Given the description of an element on the screen output the (x, y) to click on. 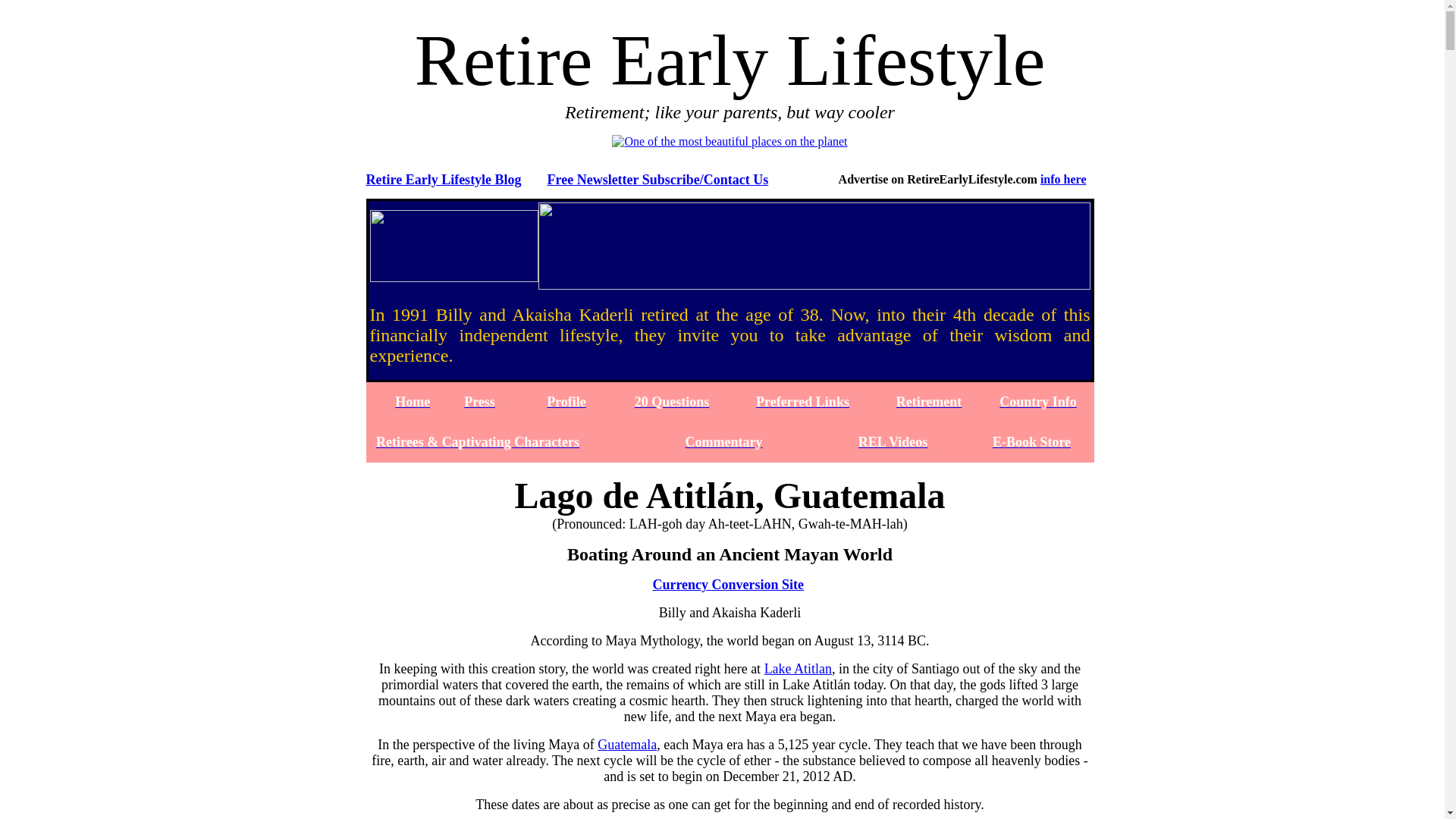
Profile (566, 401)
Commentary (723, 441)
Retirement (929, 401)
info here (1063, 178)
E-Book Store (1031, 441)
Lake Atitlan (797, 668)
Country Info (1037, 401)
Home (411, 401)
Preferred Links (801, 401)
20 Questions (672, 401)
Guatemala (626, 744)
Retire Early Lifestyle Blog (443, 178)
Currency Conversion Site (727, 584)
REL Videos (893, 441)
Press (479, 401)
